Given the description of an element on the screen output the (x, y) to click on. 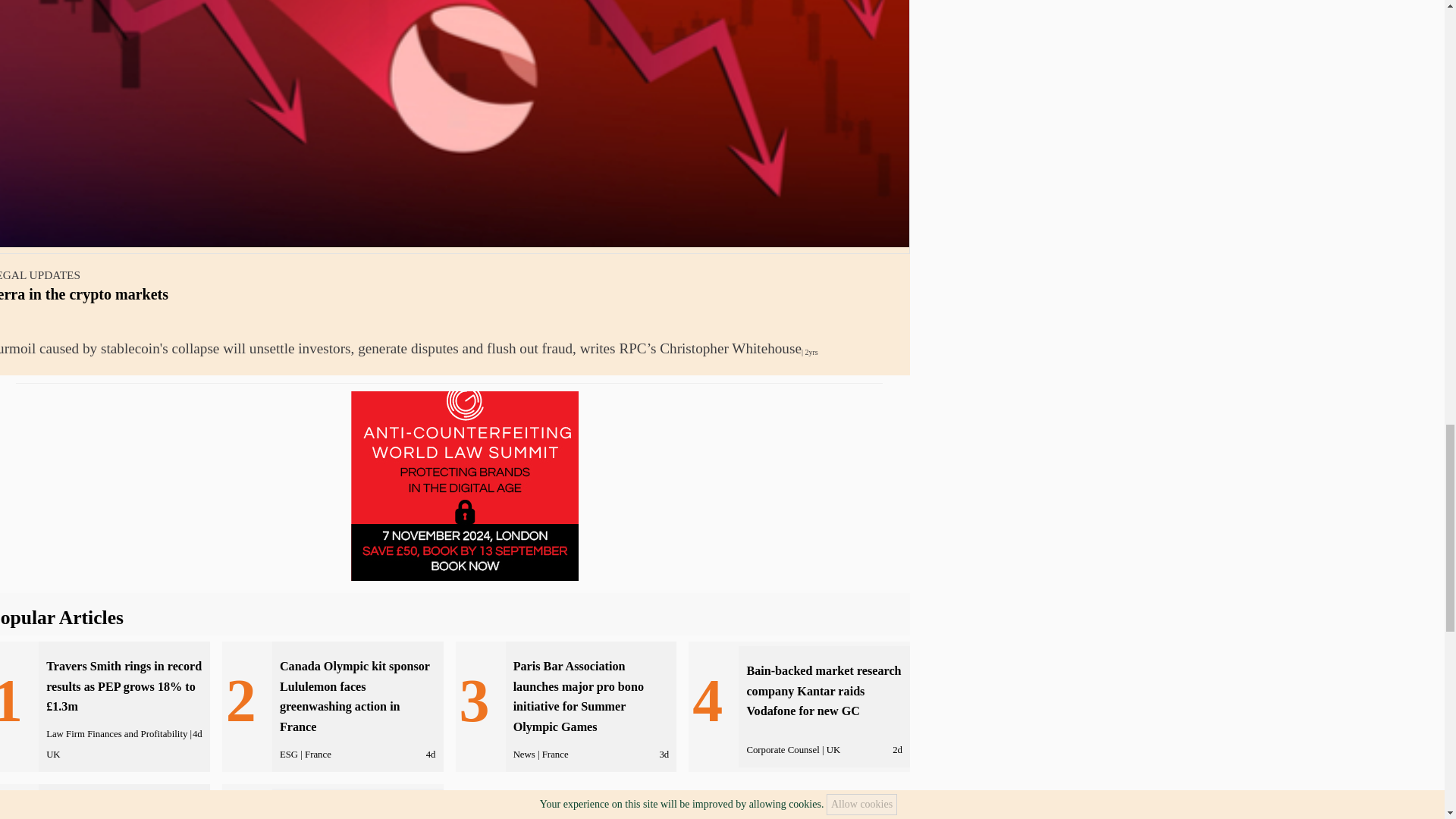
Law Firm Finances and Profitability (116, 733)
Terra in the crypto markets (84, 293)
UK (52, 754)
France (317, 754)
ESG (288, 754)
